Given the description of an element on the screen output the (x, y) to click on. 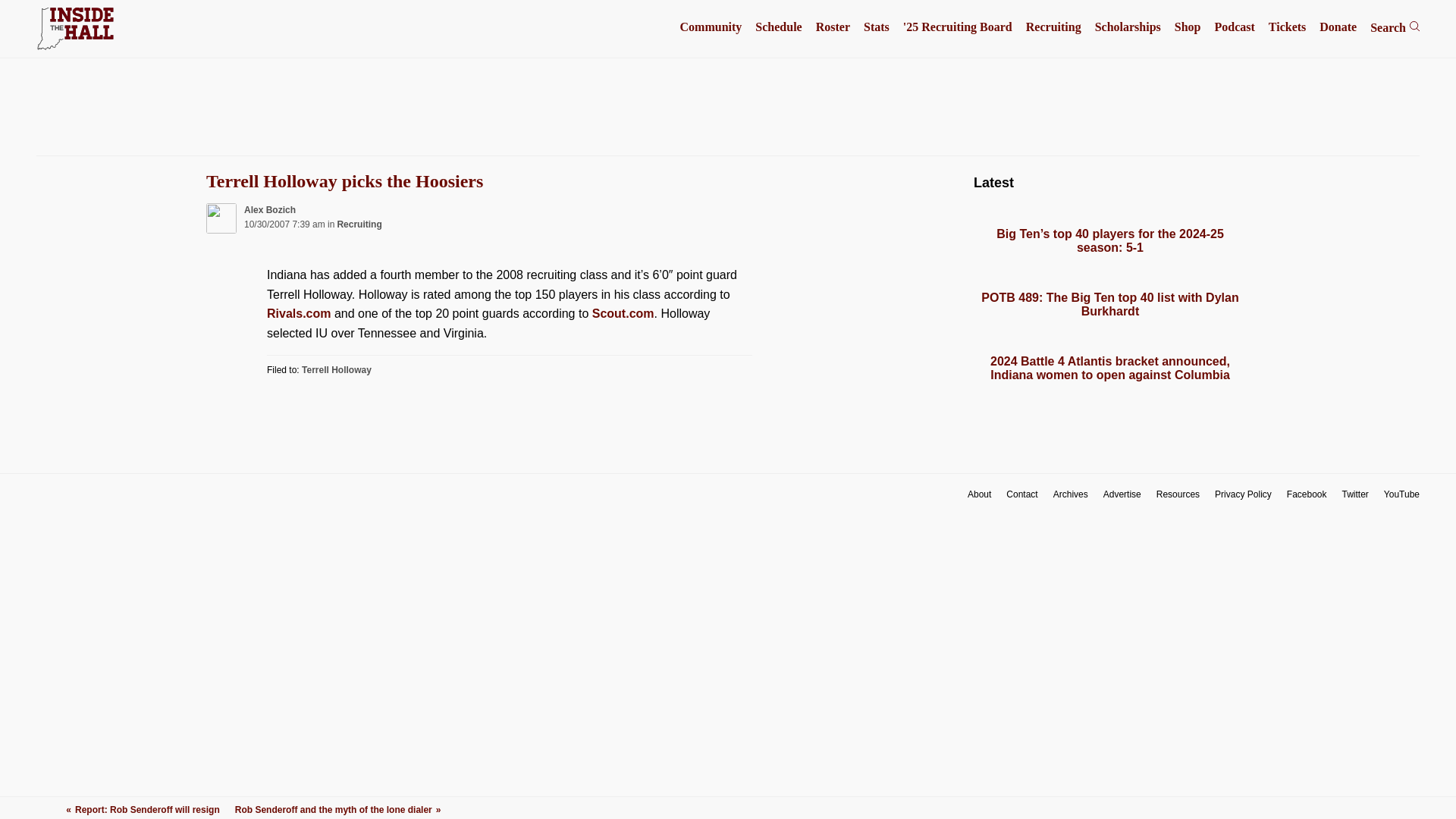
Alex Bozich (269, 209)
Schedule (778, 26)
Stats (876, 26)
'25 Recruiting Board (956, 26)
Donate (1337, 26)
search (1414, 25)
Rivals.com (298, 313)
Terrell Holloway (336, 369)
Scholarships (1127, 26)
Recruiting (1053, 26)
